Given the description of an element on the screen output the (x, y) to click on. 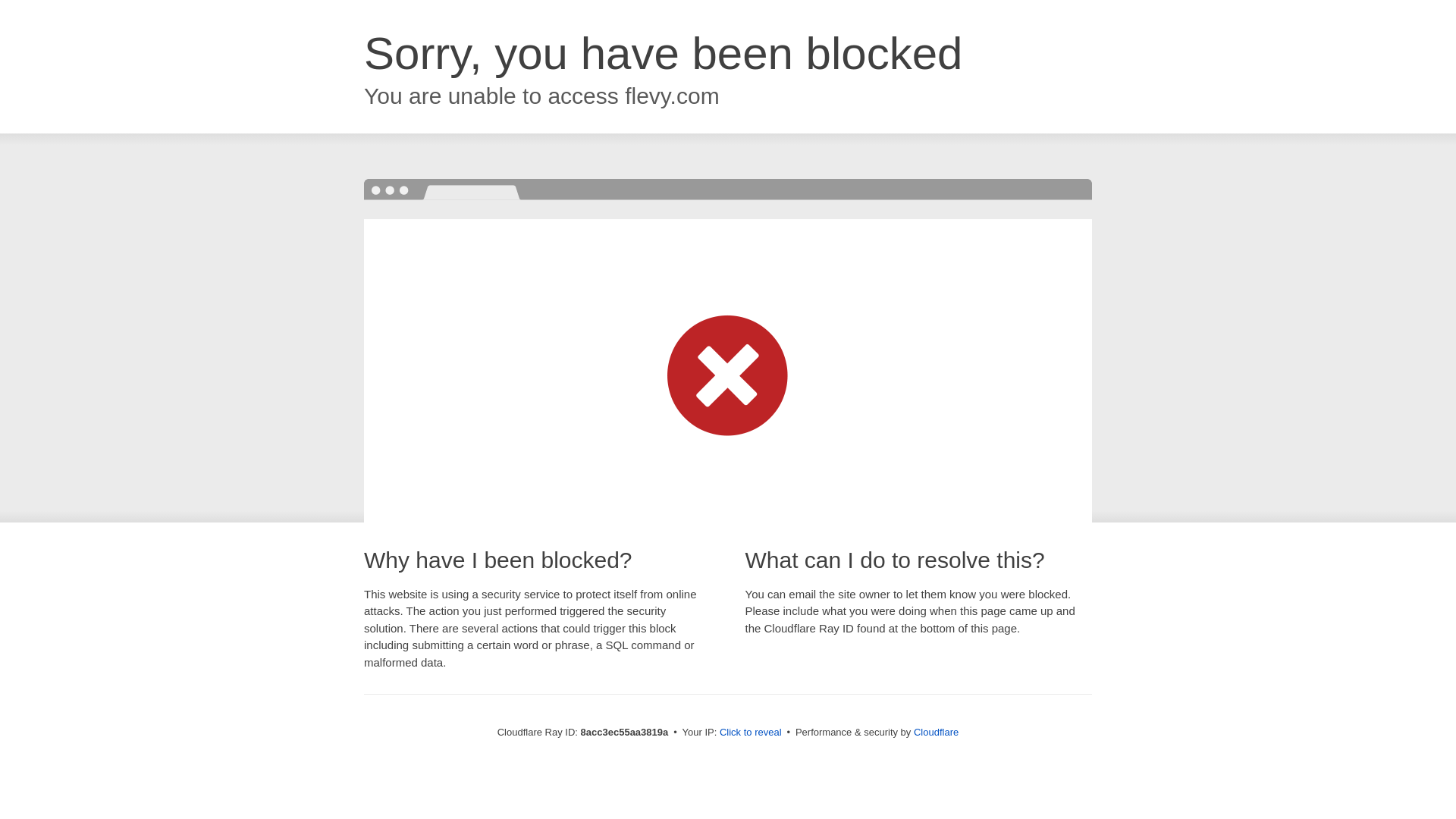
Click to reveal (750, 732)
Cloudflare (936, 731)
